Given the description of an element on the screen output the (x, y) to click on. 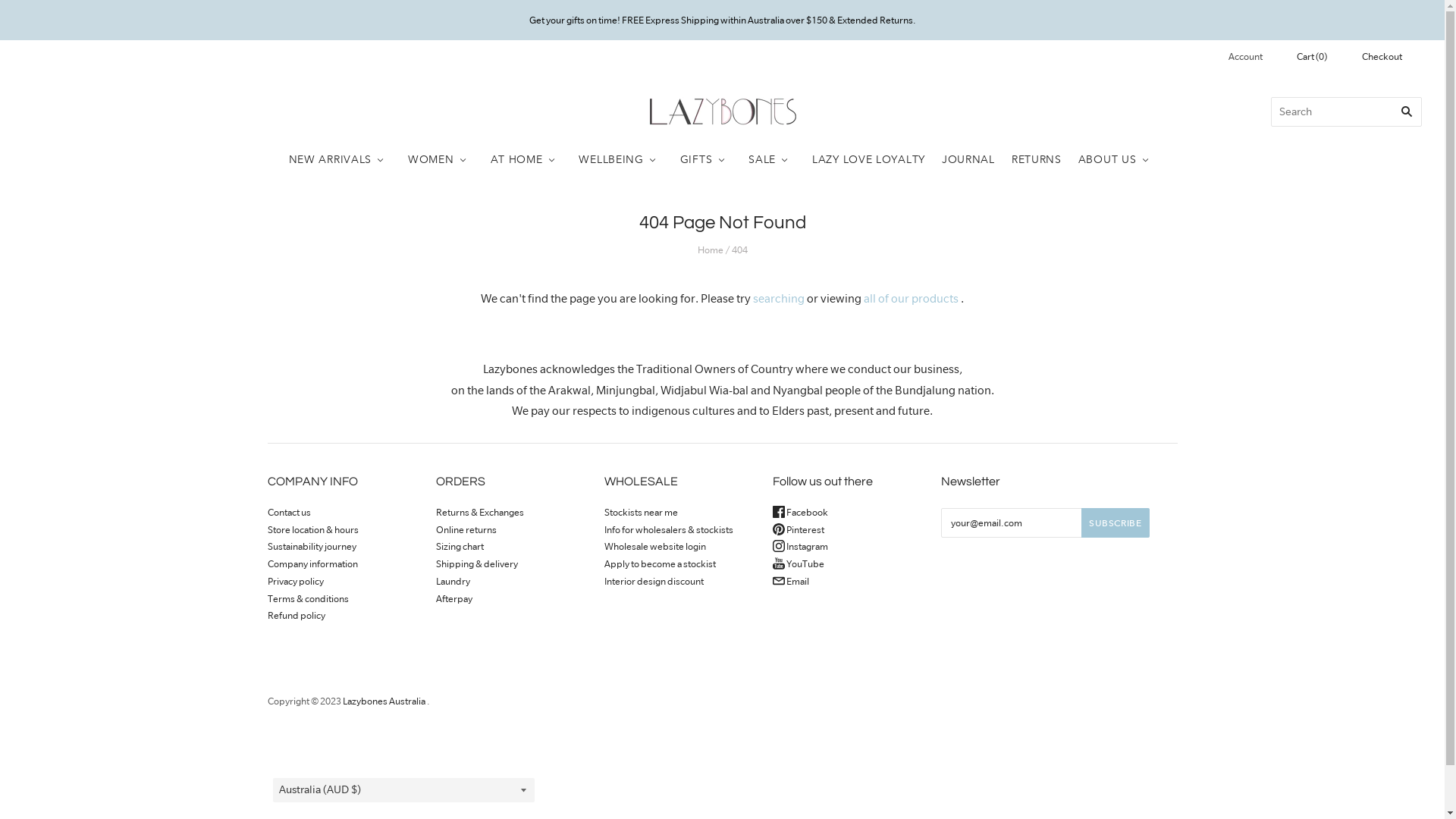
Pinterest Element type: text (797, 529)
Facebook Element type: text (799, 511)
Stockists near me Element type: text (640, 511)
Home Element type: text (710, 249)
Sustainability journey Element type: text (310, 546)
Wholesale website login Element type: text (654, 546)
Interior design discount Element type: text (652, 580)
Instagram Element type: text (799, 546)
LAZY LOVE LOYALTY Element type: text (868, 159)
WELLBEING Element type: text (620, 159)
Cart (0) Element type: text (1323, 56)
SALE Element type: text (771, 159)
Refund policy Element type: text (295, 615)
NEW ARRIVALS Element type: text (344, 159)
Contact us Element type: text (288, 511)
Laundry Element type: text (452, 580)
Privacy policy Element type: text (294, 580)
Sizing chart Element type: text (459, 546)
Terms & conditions Element type: text (307, 598)
Email Element type: text (789, 580)
Company information Element type: text (311, 563)
RETURNS Element type: text (1036, 159)
Checkout Element type: text (1393, 56)
Store location & hours Element type: text (311, 529)
Account Element type: text (1256, 56)
Returns & Exchanges Element type: text (479, 511)
WOMEN Element type: text (446, 159)
Online returns Element type: text (465, 529)
all of our products Element type: text (910, 298)
Subscribe Element type: text (1114, 522)
GIFTS Element type: text (705, 159)
JOURNAL Element type: text (968, 159)
Shipping & delivery Element type: text (476, 563)
searching Element type: text (778, 298)
YouTube Element type: text (797, 563)
Afterpay Element type: text (453, 598)
Apply to become a stockist Element type: text (659, 563)
AT HOME Element type: text (526, 159)
Lazybones Australia Element type: text (383, 700)
ABOUT US Element type: text (1117, 159)
Info for wholesalers & stockists Element type: text (667, 529)
